Given the description of an element on the screen output the (x, y) to click on. 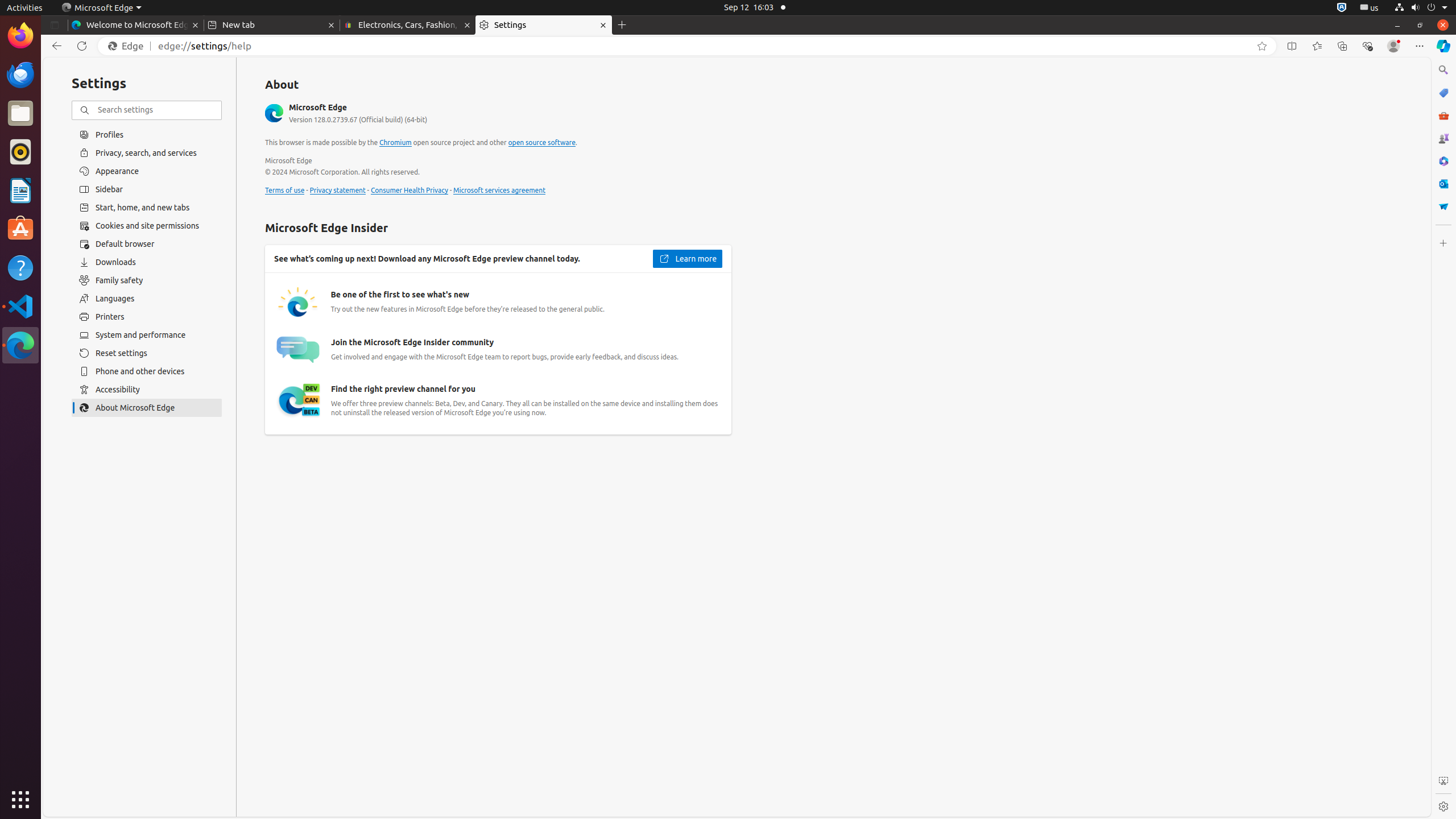
Printers Element type: tree-item (146, 316)
Screenshot Element type: push-button (1443, 780)
Profile 1 Profile, Please sign in Element type: push-button (1392, 46)
:1.72/StatusNotifierItem Element type: menu (1341, 7)
Settings Element type: push-button (1443, 806)
